Given the description of an element on the screen output the (x, y) to click on. 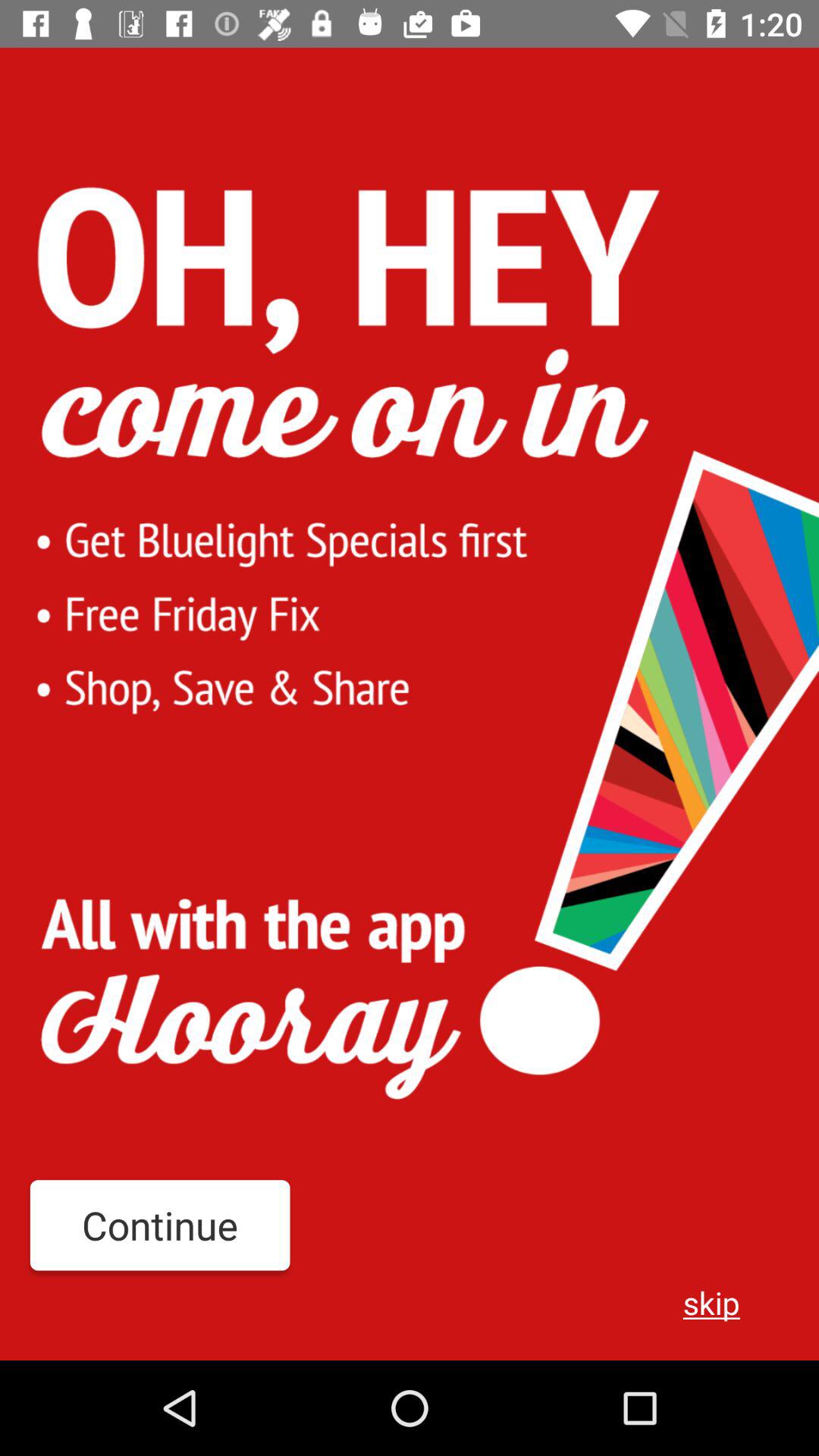
jump to skip icon (711, 1302)
